Given the description of an element on the screen output the (x, y) to click on. 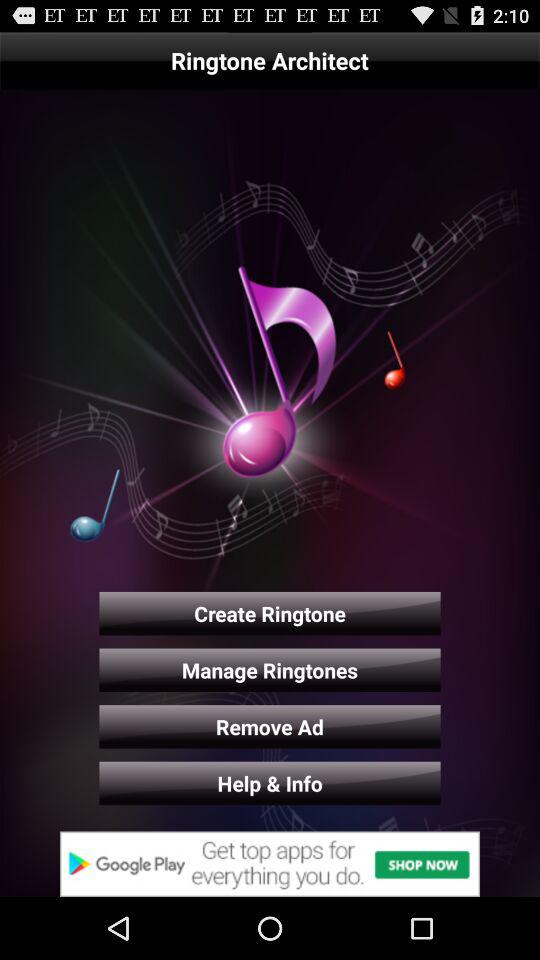
google play advertisement (270, 864)
